Given the description of an element on the screen output the (x, y) to click on. 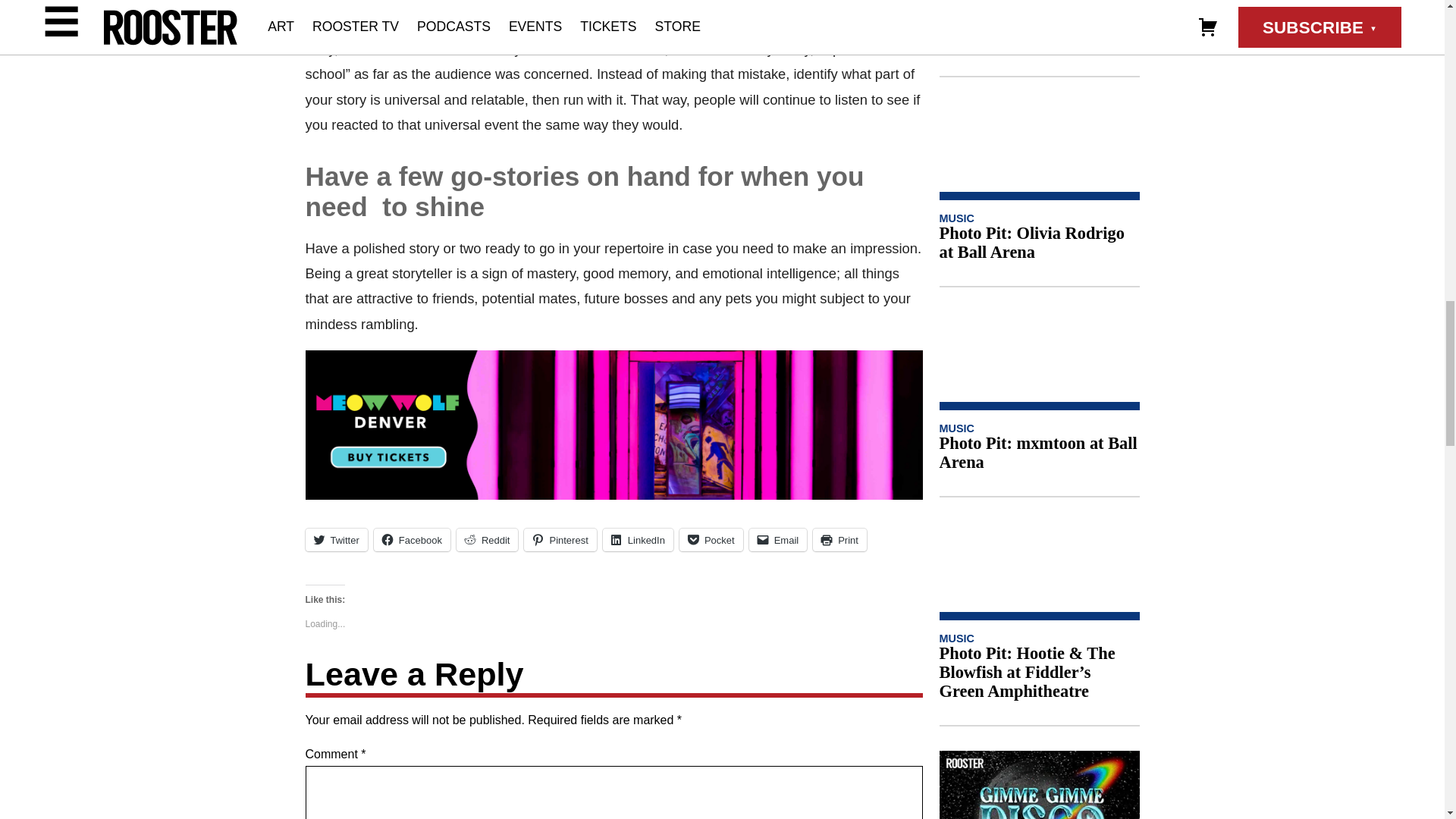
Click to share on Facebook (411, 539)
Click to share on Pocket (710, 539)
Click to share on Pinterest (559, 539)
Click to share on Twitter (335, 539)
Click to email a link to a friend (778, 539)
Click to print (839, 539)
Click to share on LinkedIn (637, 539)
Click to share on Reddit (487, 539)
